Given the description of an element on the screen output the (x, y) to click on. 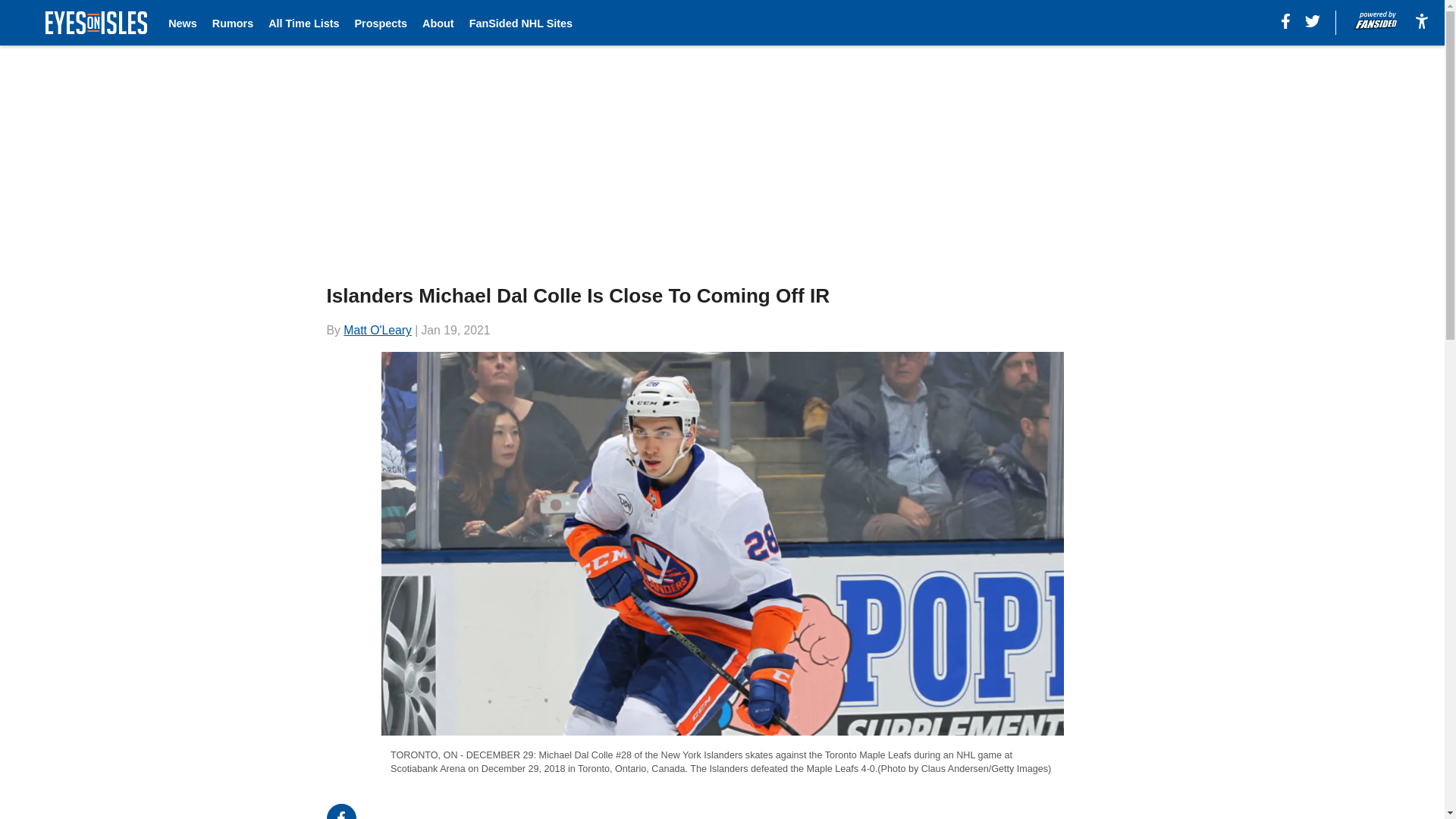
All Time Lists (303, 23)
FanSided NHL Sites (520, 23)
Rumors (232, 23)
About (438, 23)
News (182, 23)
Prospects (381, 23)
Matt O'Leary (377, 329)
